Given the description of an element on the screen output the (x, y) to click on. 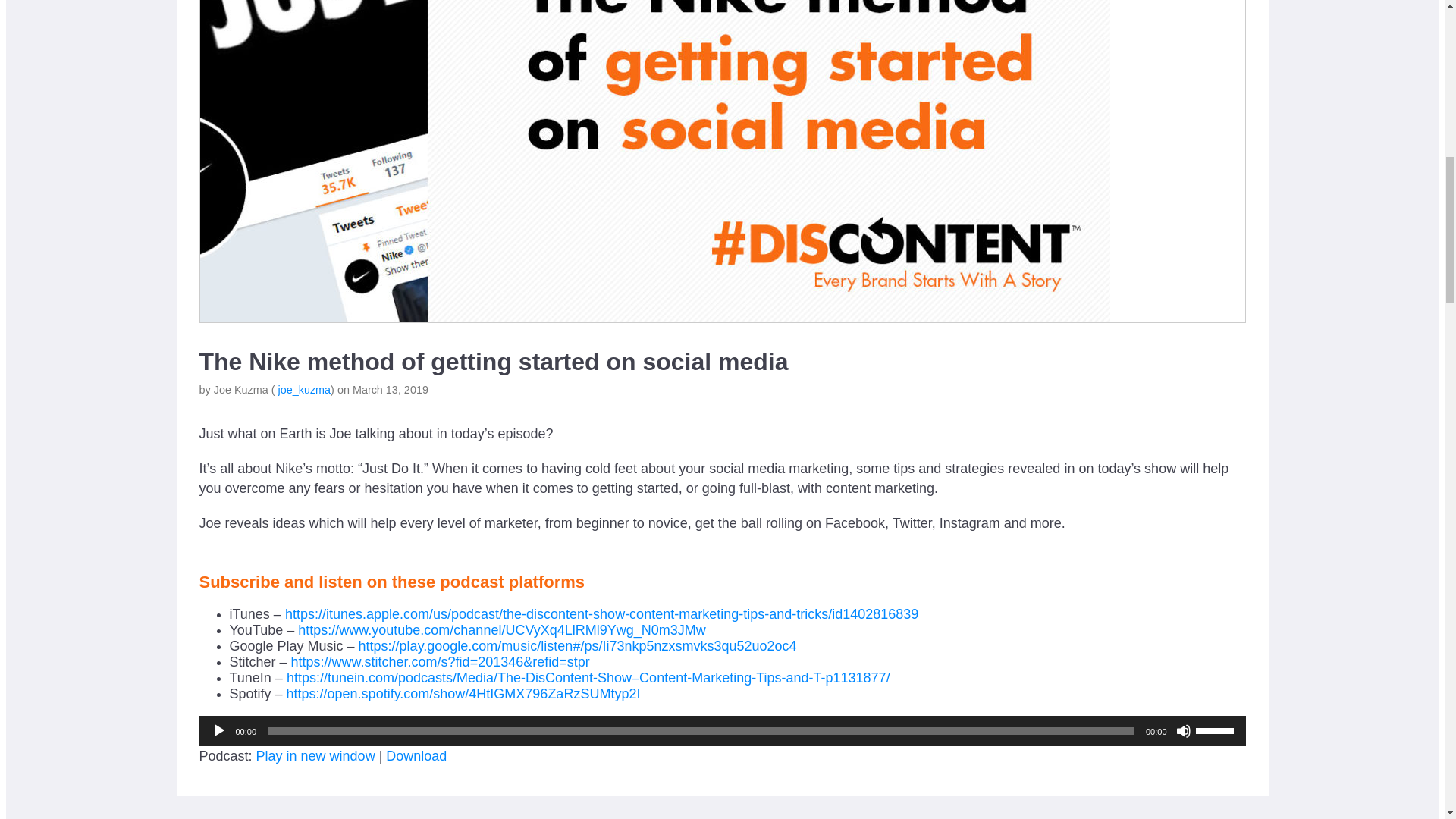
Play in new window (315, 755)
Download (415, 755)
Play in new window (315, 755)
Mute (1182, 730)
Download (415, 755)
Play (218, 730)
